Given the description of an element on the screen output the (x, y) to click on. 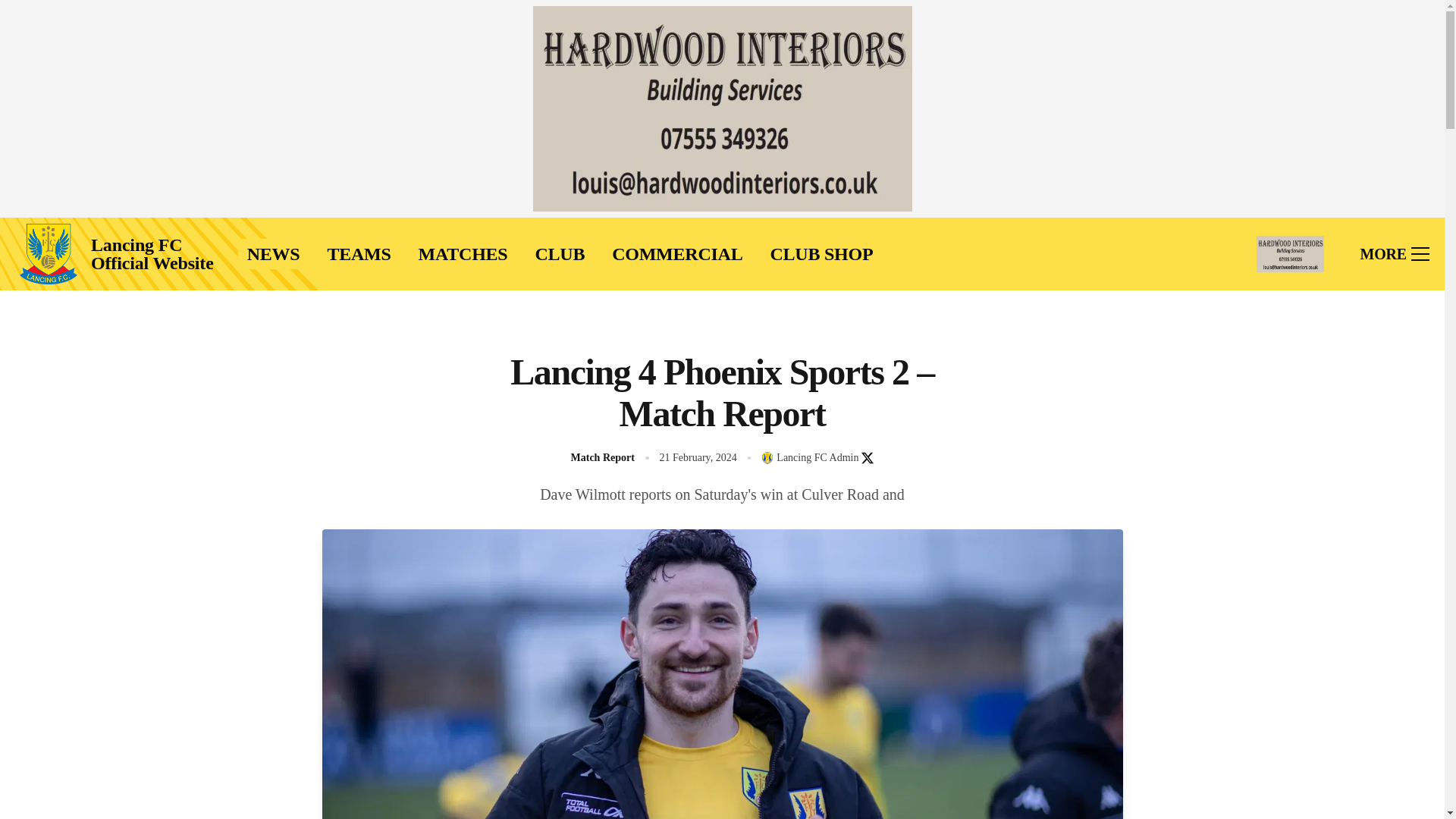
TEAMS (357, 254)
MATCHES (462, 254)
COMMERCIAL (676, 254)
CLUB SHOP (821, 254)
CLUB (559, 254)
NEWS (273, 254)
